Given the description of an element on the screen output the (x, y) to click on. 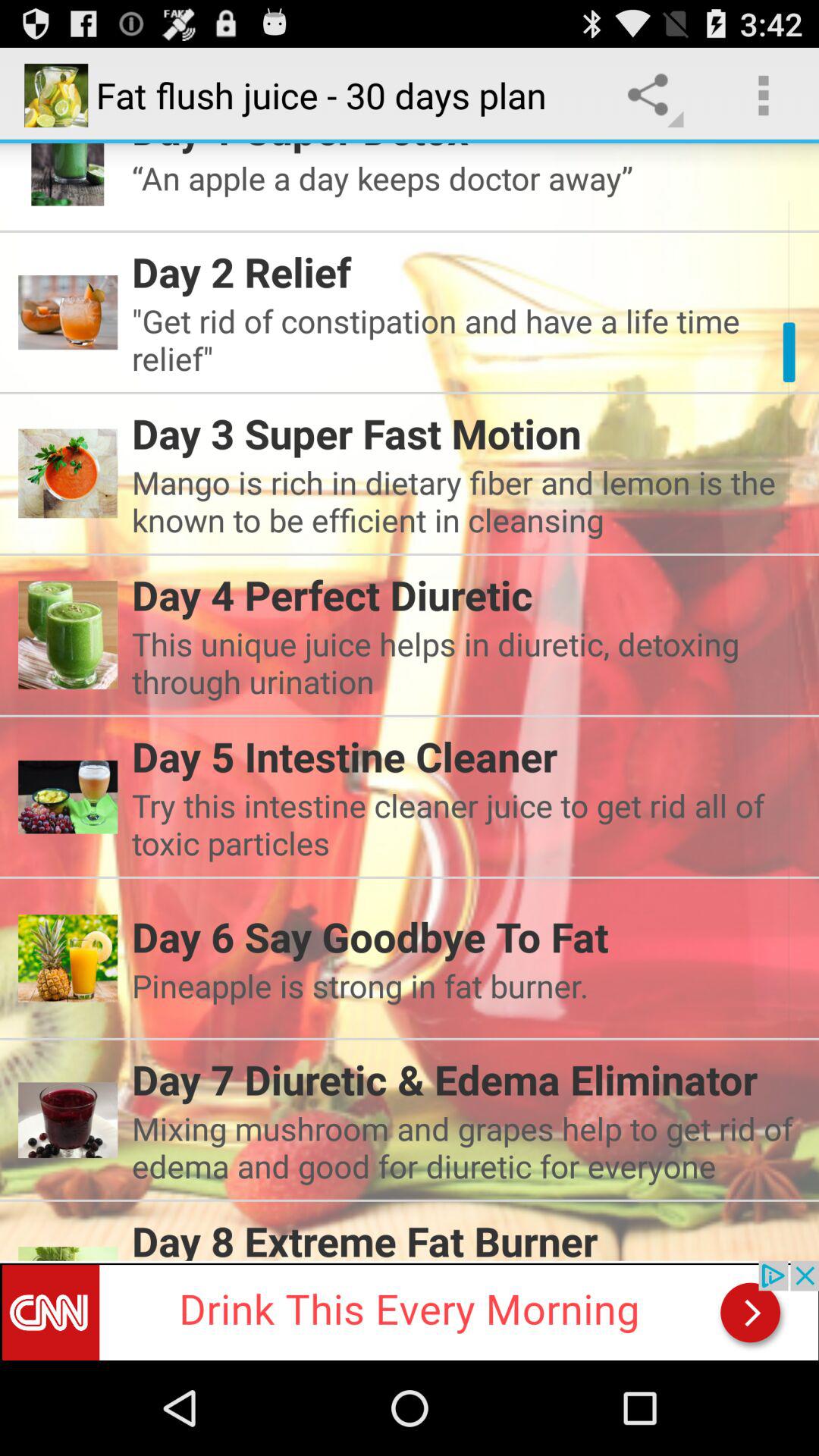
click on the share option on the top right (651, 95)
